Given the description of an element on the screen output the (x, y) to click on. 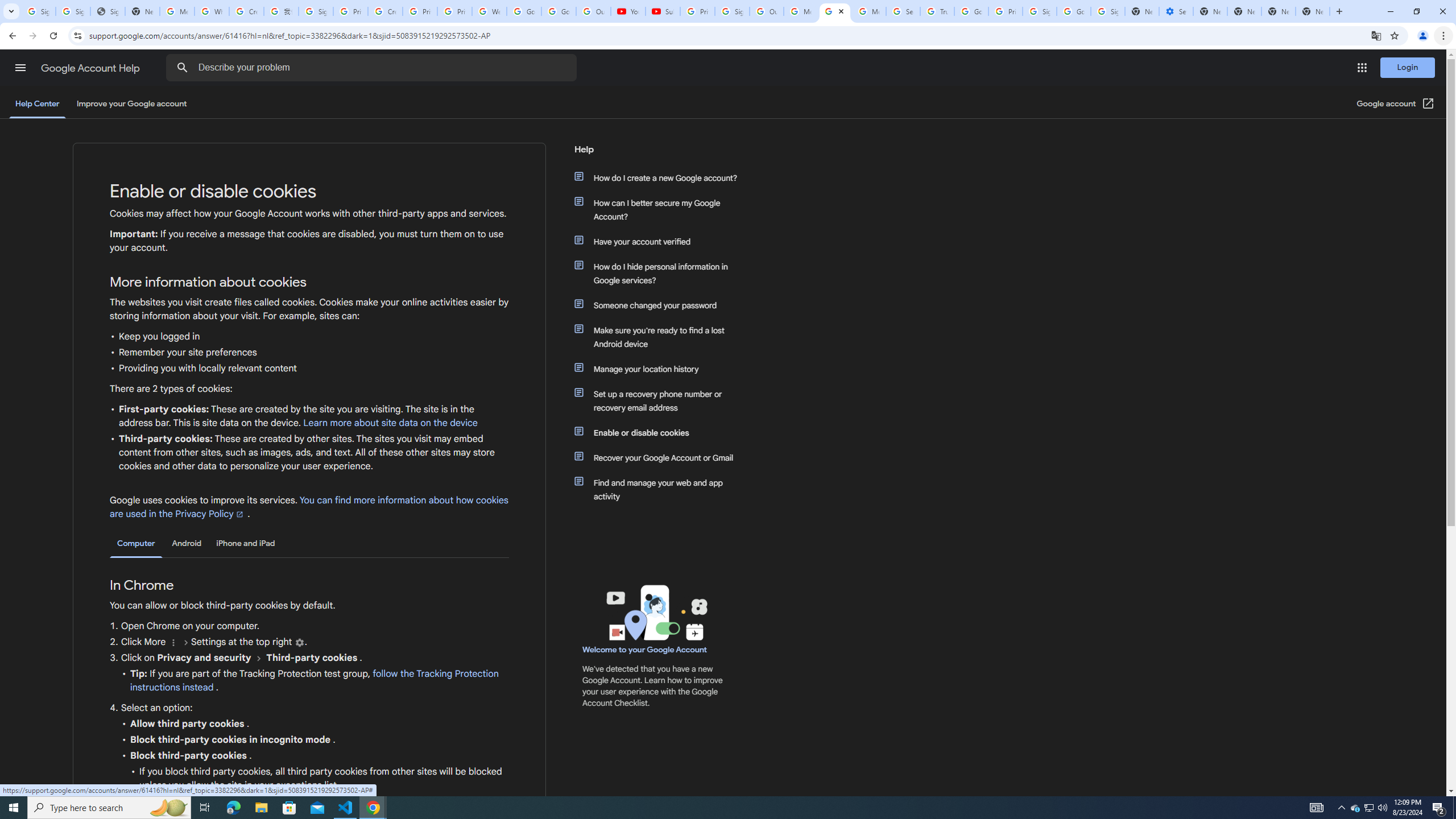
Manage your location history (661, 368)
Help Center (36, 103)
Set up a recovery phone number or recovery email address (661, 400)
Google Cybersecurity Innovations - Google Safety Center (1073, 11)
Have your account verified (661, 241)
Main menu (20, 67)
